Given the description of an element on the screen output the (x, y) to click on. 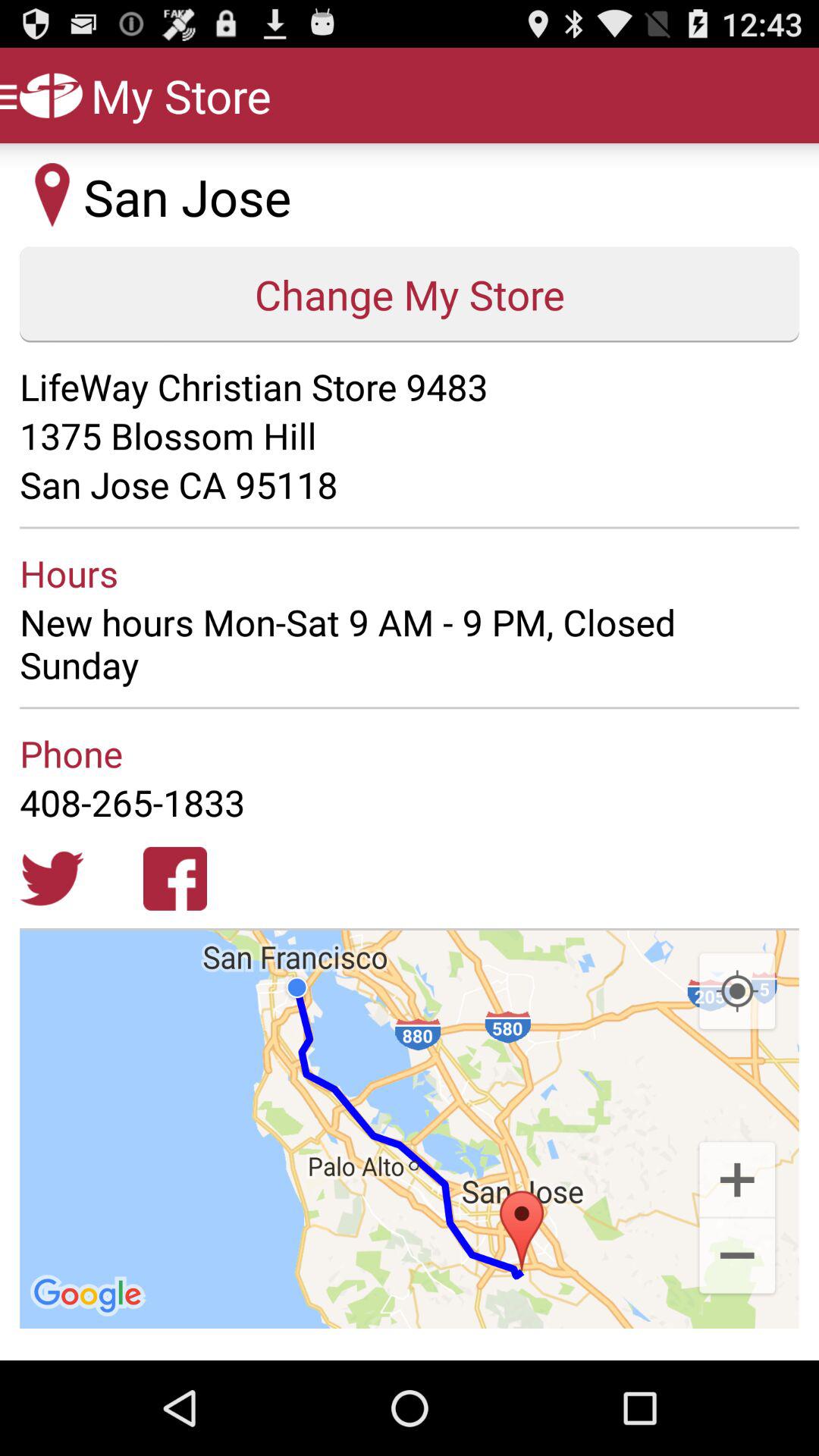
click for twitter (51, 878)
